Given the description of an element on the screen output the (x, y) to click on. 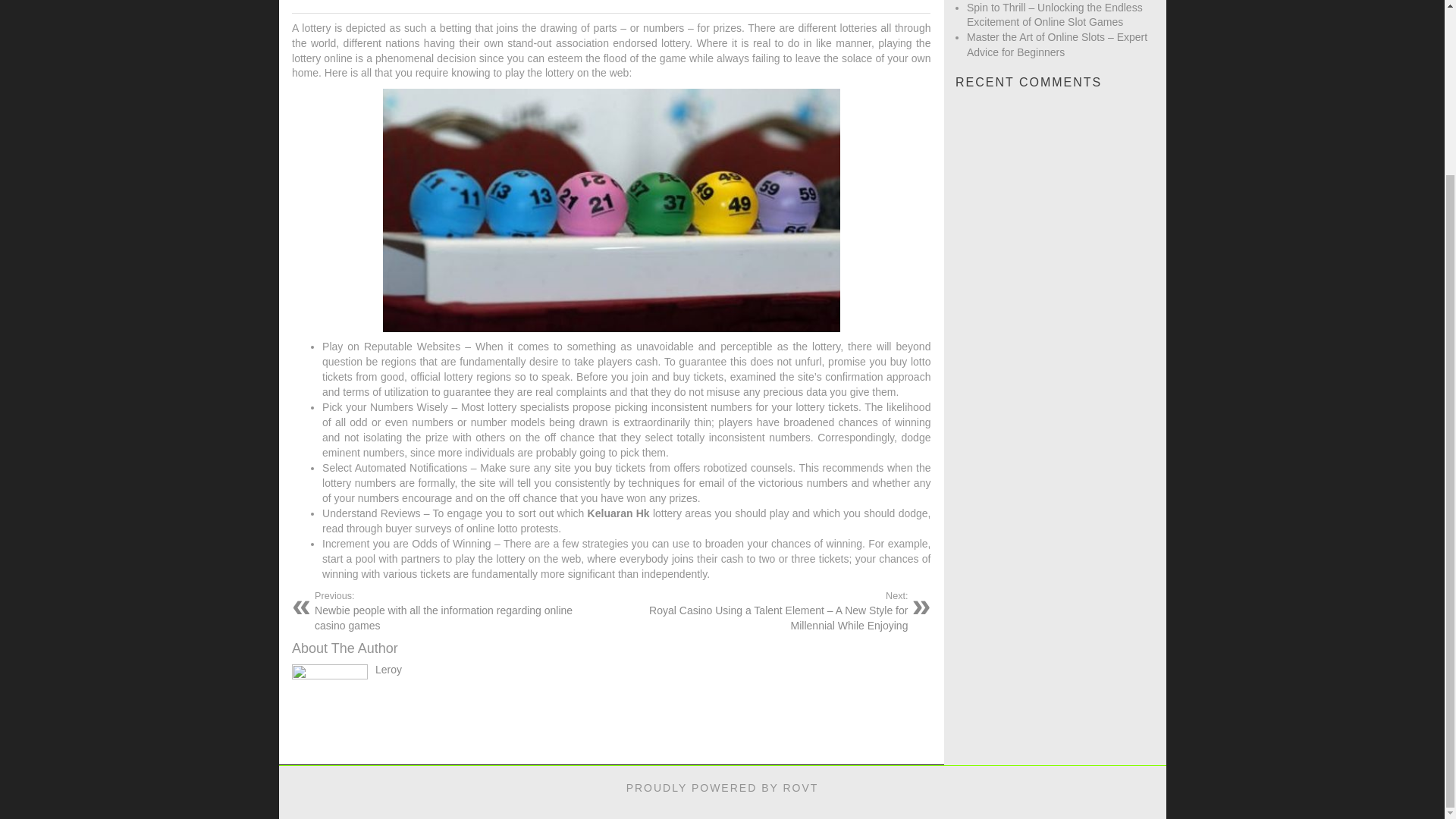
Posts by Leroy (388, 669)
Keluaran Hk (618, 512)
Leroy (388, 669)
